Given the description of an element on the screen output the (x, y) to click on. 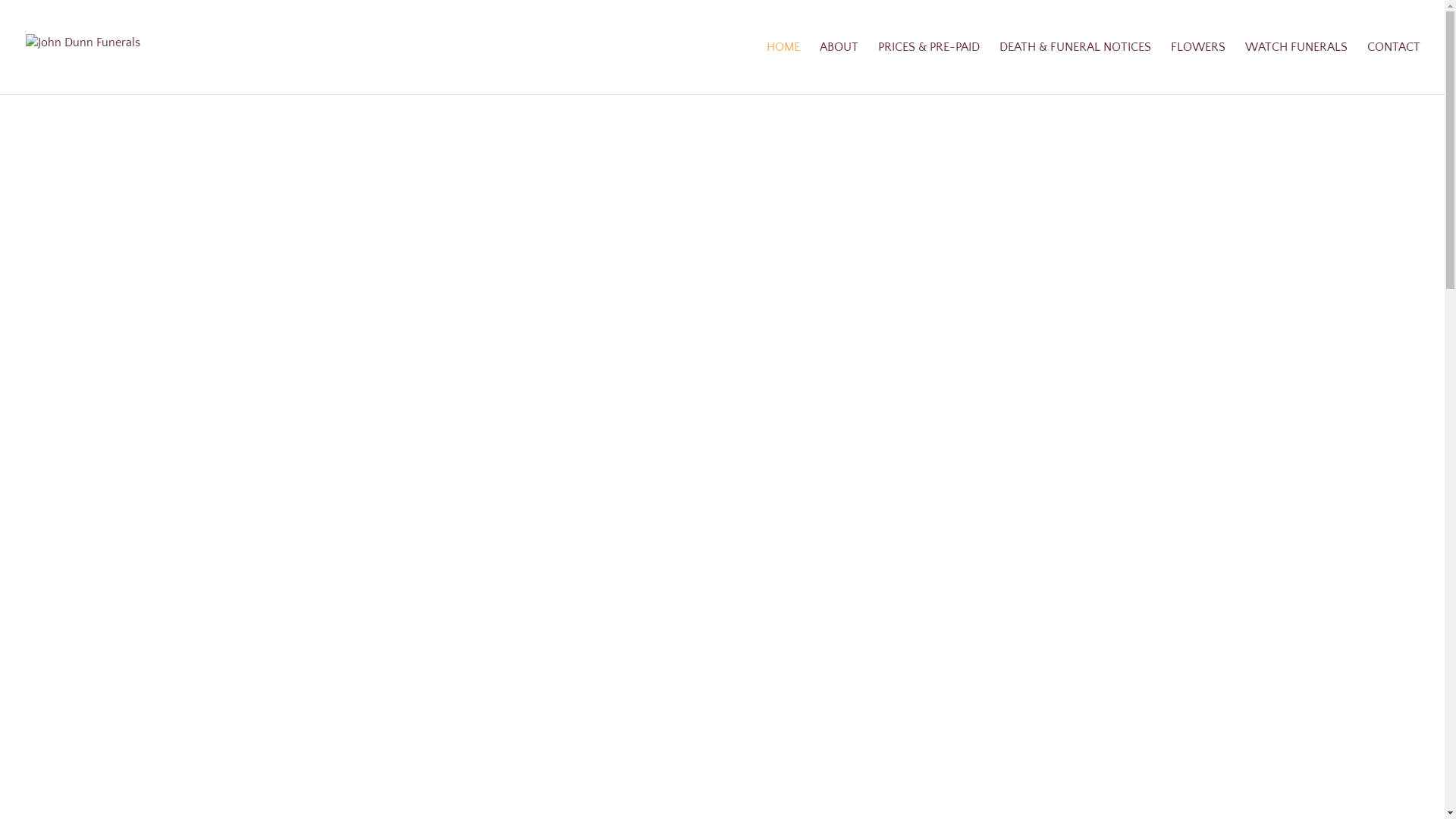
WATCH FUNERALS Element type: text (1296, 67)
DEATH & FUNERAL NOTICES Element type: text (1075, 67)
FLOWERS Element type: text (1197, 67)
CONTACT Element type: text (1393, 67)
ABOUT Element type: text (838, 67)
PRICES & PRE-PAID Element type: text (928, 67)
HOME Element type: text (783, 67)
